Given the description of an element on the screen output the (x, y) to click on. 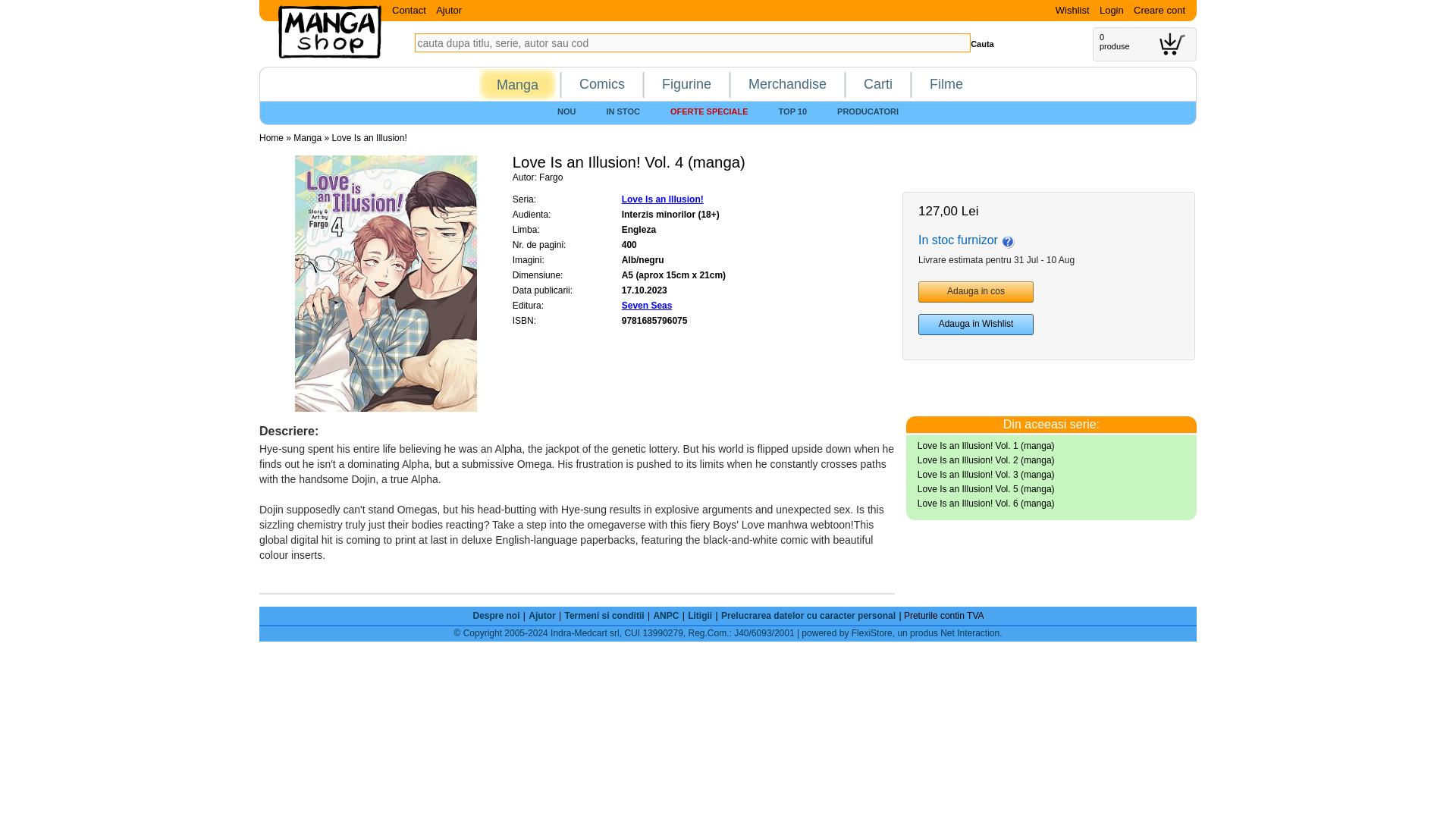
Comics (602, 83)
Home (271, 137)
Filme (946, 83)
MangaShop.ro (329, 54)
Adauga in Wishlist (975, 323)
Merchandise (787, 83)
Cauta (982, 43)
Love Is an Illusion! Vol. 4 - MangaShop.ro (386, 283)
Love Is an Illusion! Vol. 6 (985, 502)
Ajutor (448, 9)
Creare cont (1159, 9)
Wishlist (1072, 9)
Adauga in cos (975, 291)
IN STOC (622, 111)
OFERTE SPECIALE (708, 111)
